Given the description of an element on the screen output the (x, y) to click on. 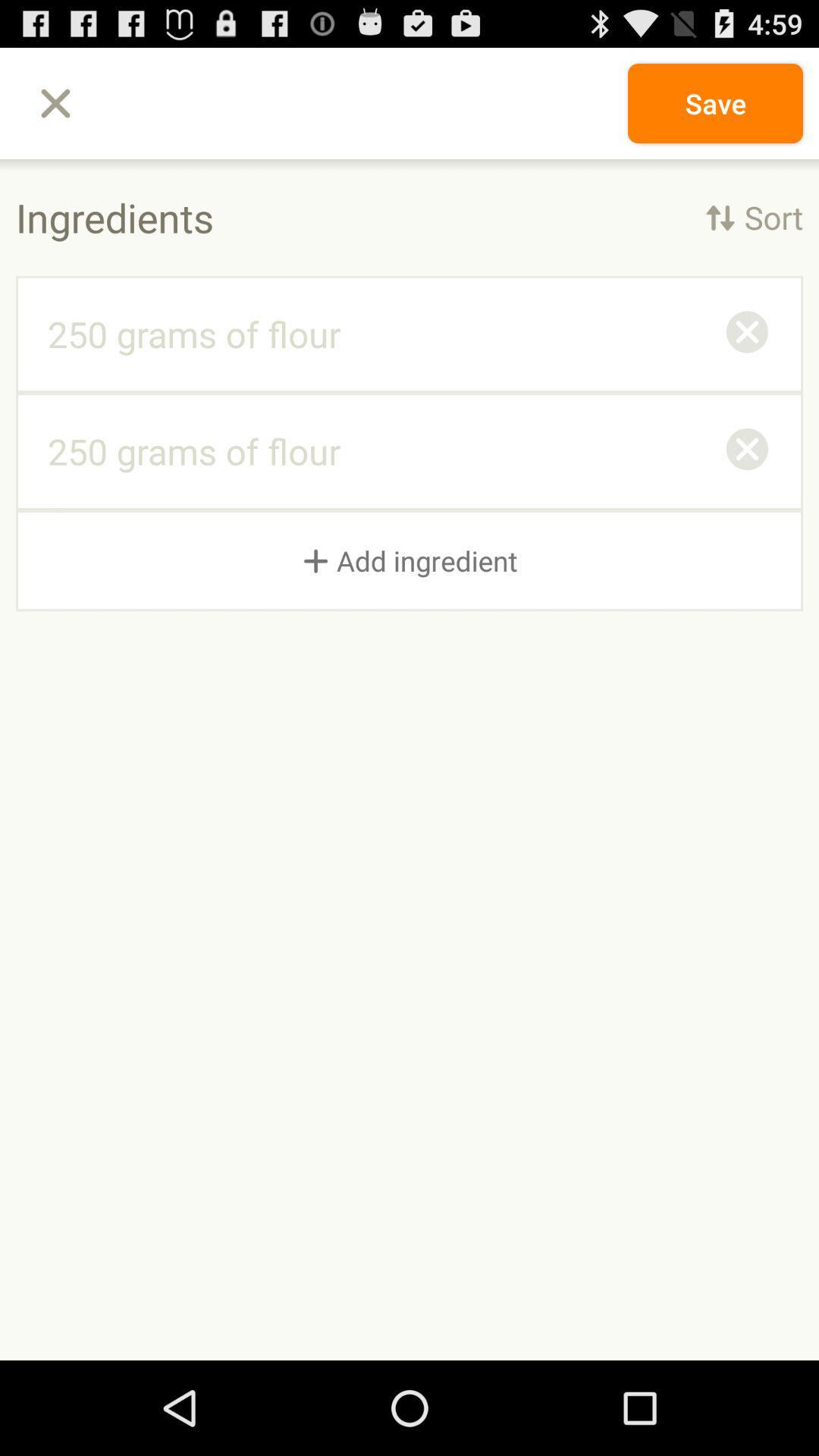
select icon above + add ingredient item (747, 451)
